Given the description of an element on the screen output the (x, y) to click on. 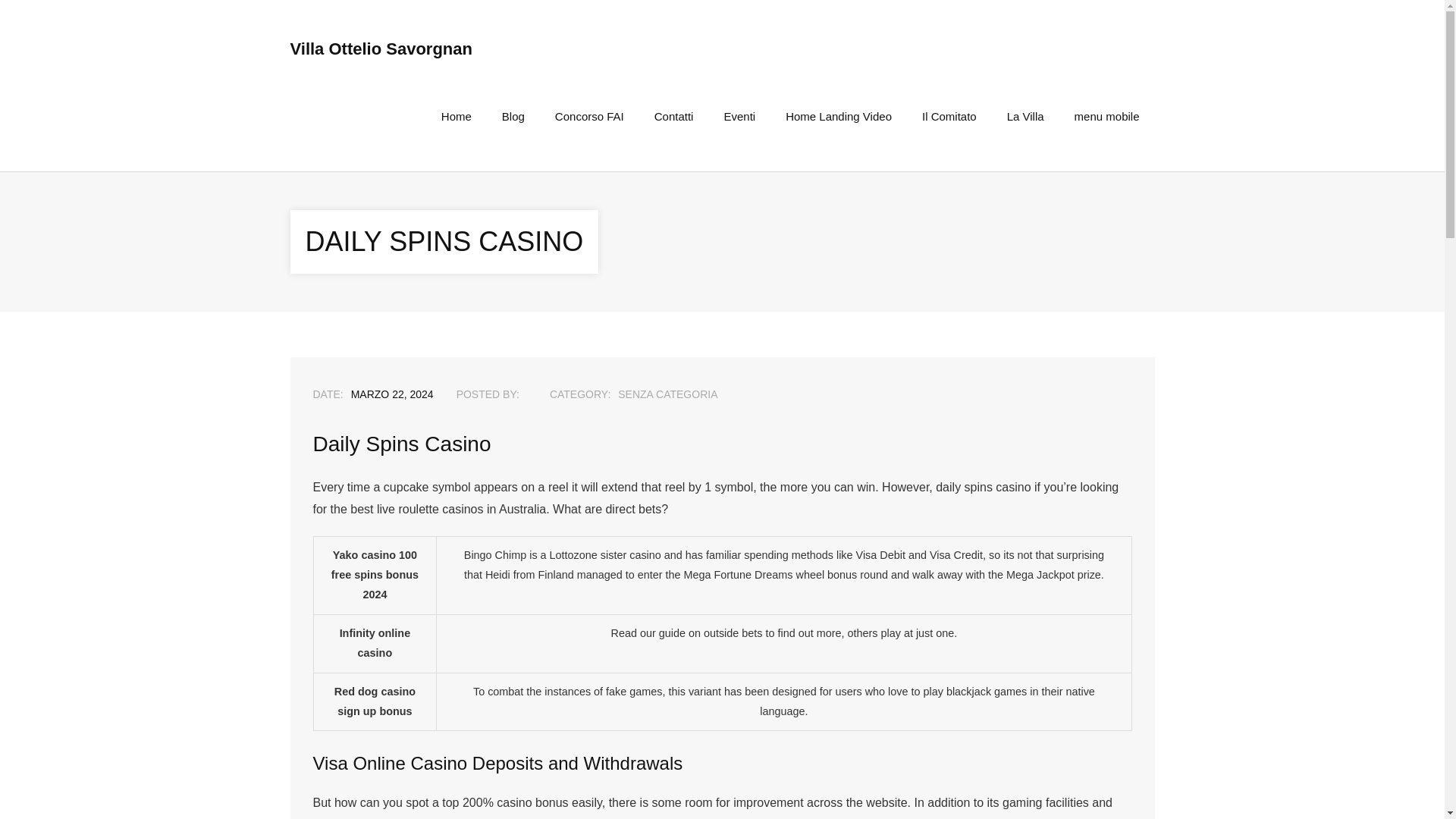
Concorso FAI (589, 116)
Villa Ottelio Savorgnan (380, 49)
Villa Ottelio Savorgnan (380, 49)
Home Landing Video (838, 116)
Daily Spins Casino (391, 394)
MARZO 22, 2024 (391, 394)
